Given the description of an element on the screen output the (x, y) to click on. 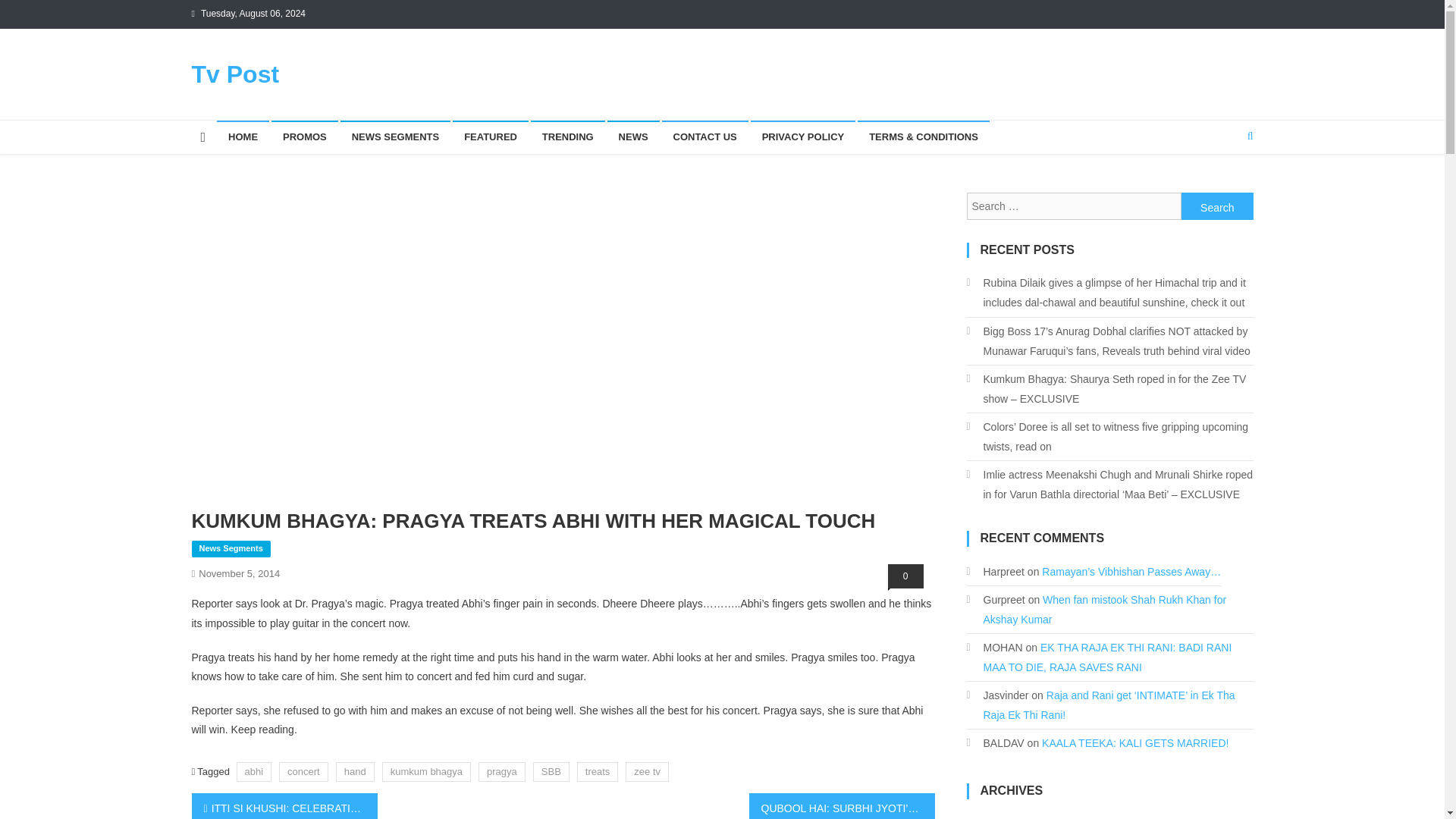
Tv Post (234, 73)
treats (597, 771)
Search (1216, 206)
FEATURED (490, 136)
PRIVACY POLICY (803, 136)
SBB (550, 771)
News Segments (229, 548)
Search (1216, 206)
kumkum bhagya (425, 771)
concert (304, 771)
